Given the description of an element on the screen output the (x, y) to click on. 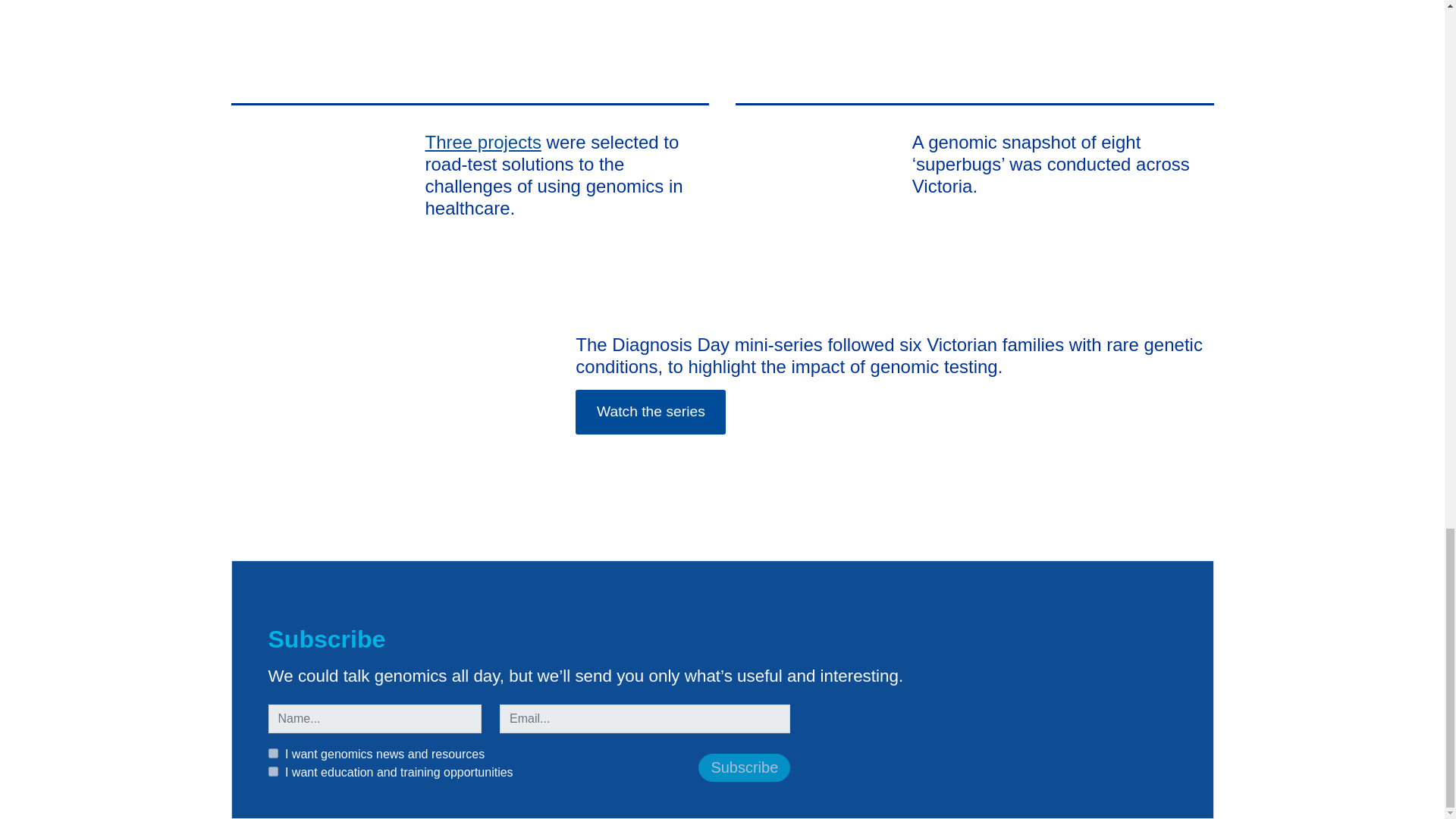
stkhkk (272, 771)
uhjlik (272, 753)
